Given the description of an element on the screen output the (x, y) to click on. 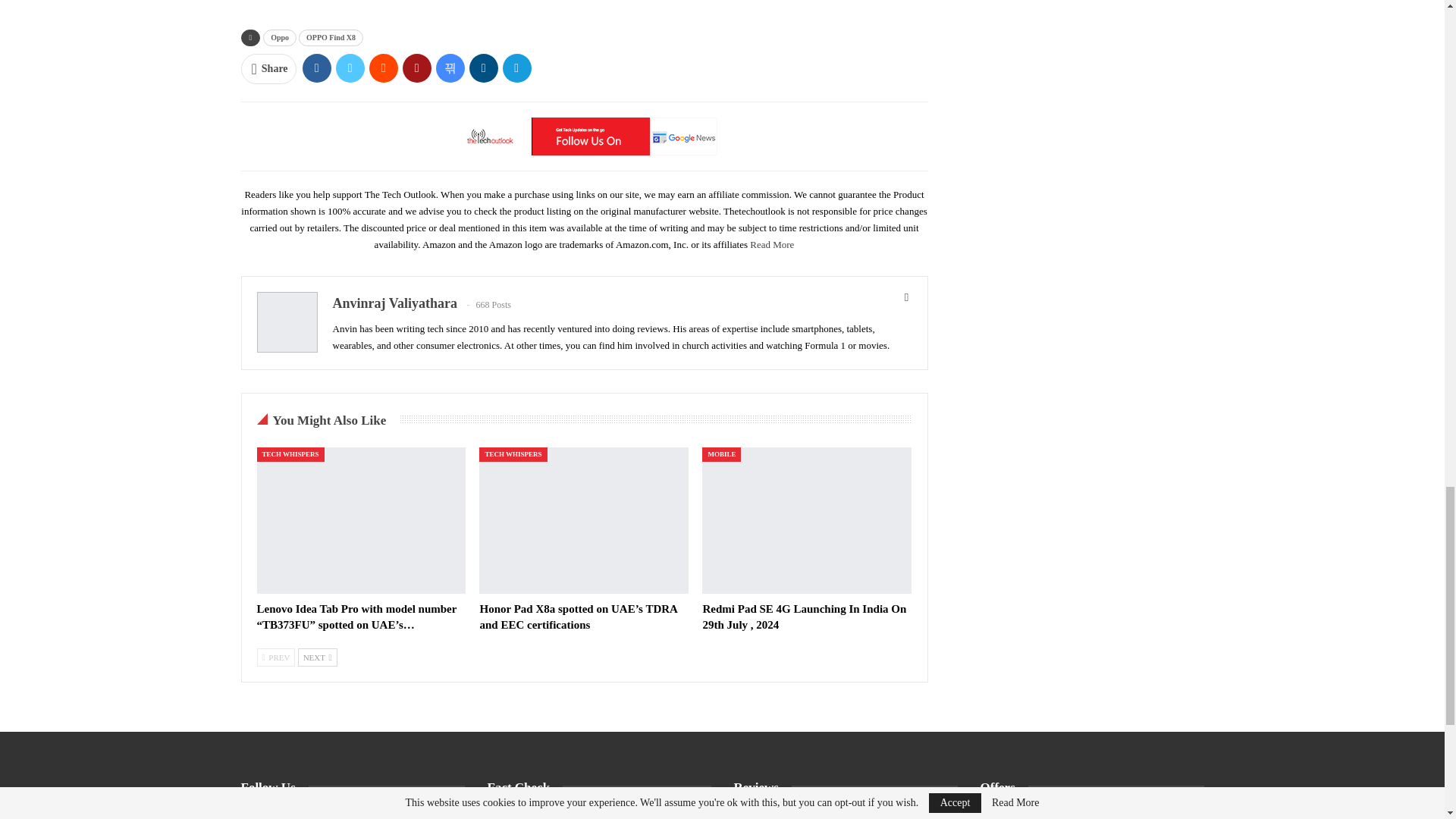
Redmi Pad SE 4G Launching In India On 29th July , 2024 (803, 616)
Redmi Pad SE 4G Launching In India On 29th July , 2024 (806, 520)
